Given the description of an element on the screen output the (x, y) to click on. 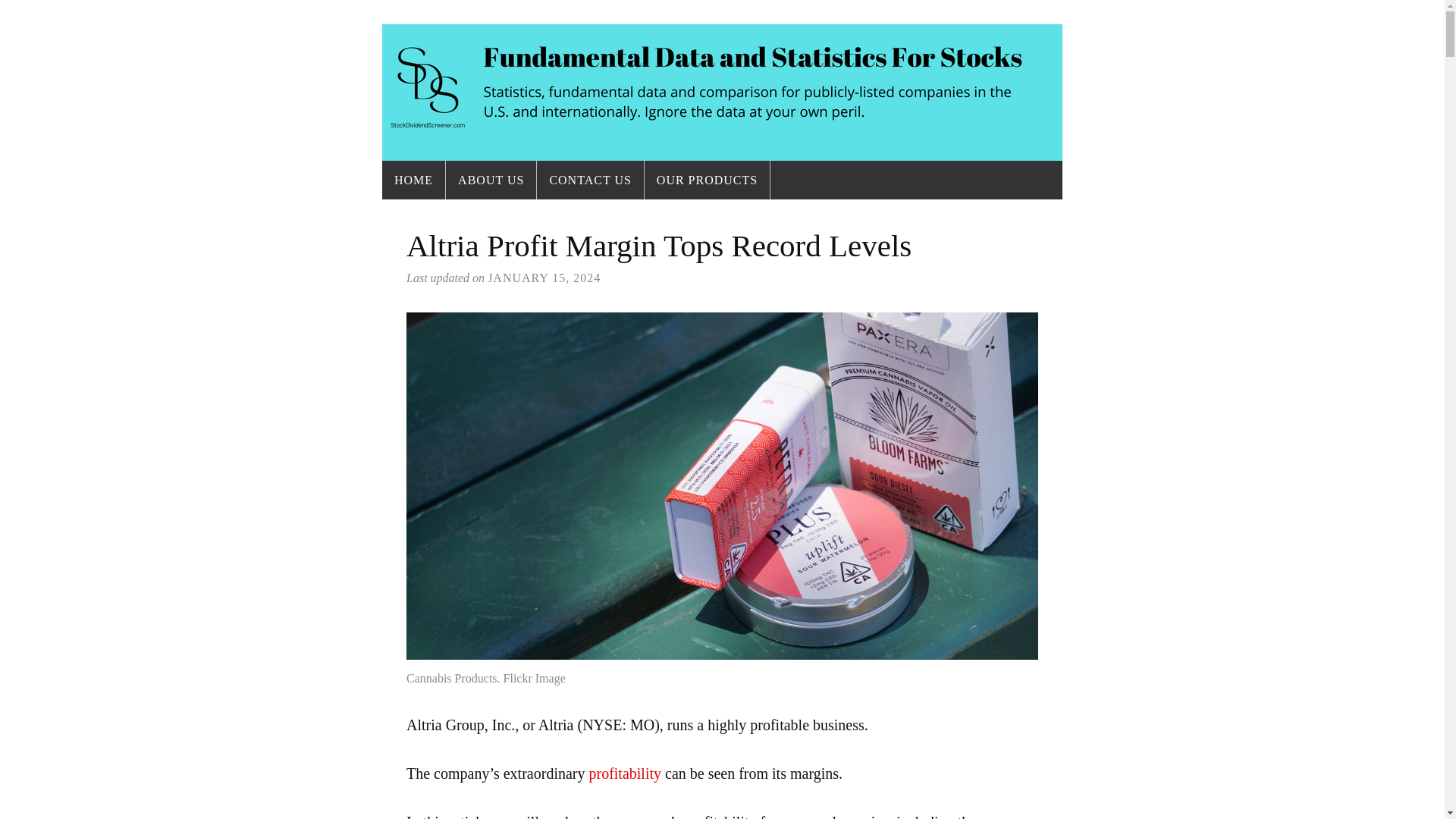
profitability (624, 773)
profitability (624, 773)
ABOUT US (490, 179)
OUR PRODUCTS (707, 179)
CONTACT US (590, 179)
2024-01-15 (543, 277)
HOME (413, 179)
